Given the description of an element on the screen output the (x, y) to click on. 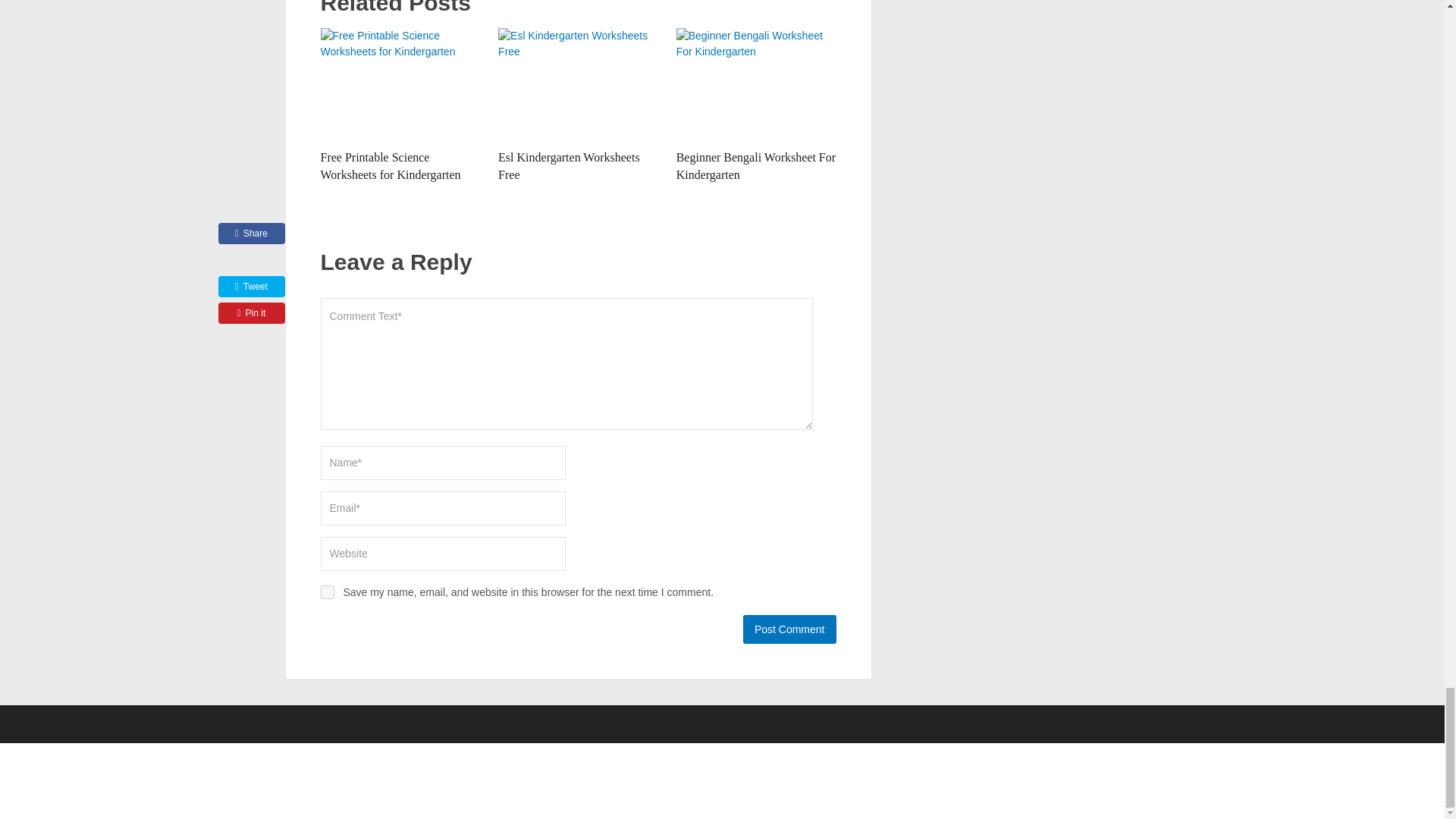
Post Comment (788, 629)
Esl Kindergarten Worksheets Free (577, 84)
Free Printable Science Worksheets for Kindergarten (390, 165)
Free Printable Science Worksheets for Kindergarten (400, 84)
Beginner Bengali Worksheet For Kindergarten (756, 84)
Esl Kindergarten Worksheets Free (568, 165)
Beginner Bengali Worksheet For Kindergarten (756, 165)
Esl Kindergarten Worksheets Free (568, 165)
Free Printable Science Worksheets for Kindergarten (390, 165)
Post Comment (788, 629)
